Given the description of an element on the screen output the (x, y) to click on. 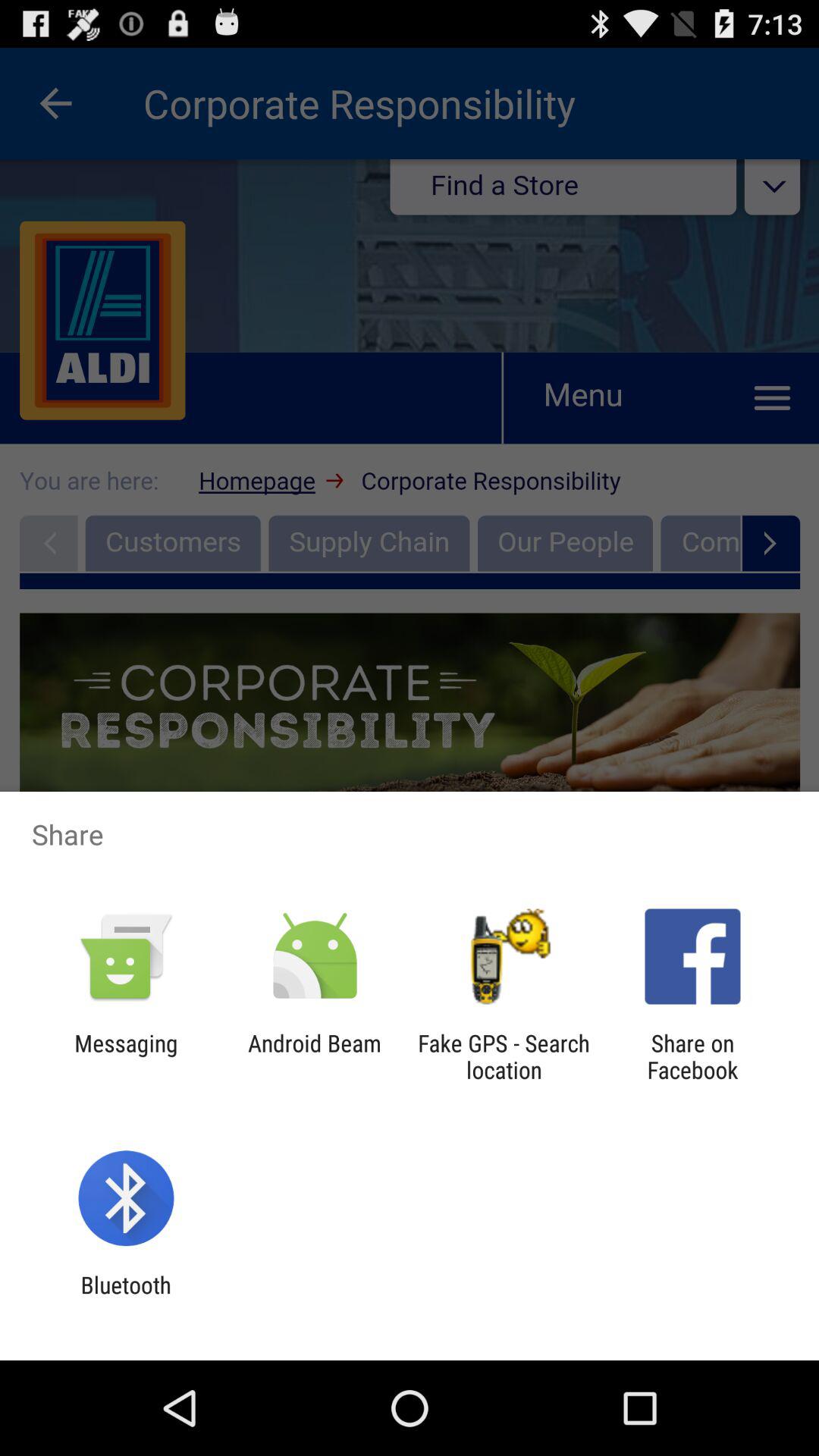
choose the messaging item (126, 1056)
